Given the description of an element on the screen output the (x, y) to click on. 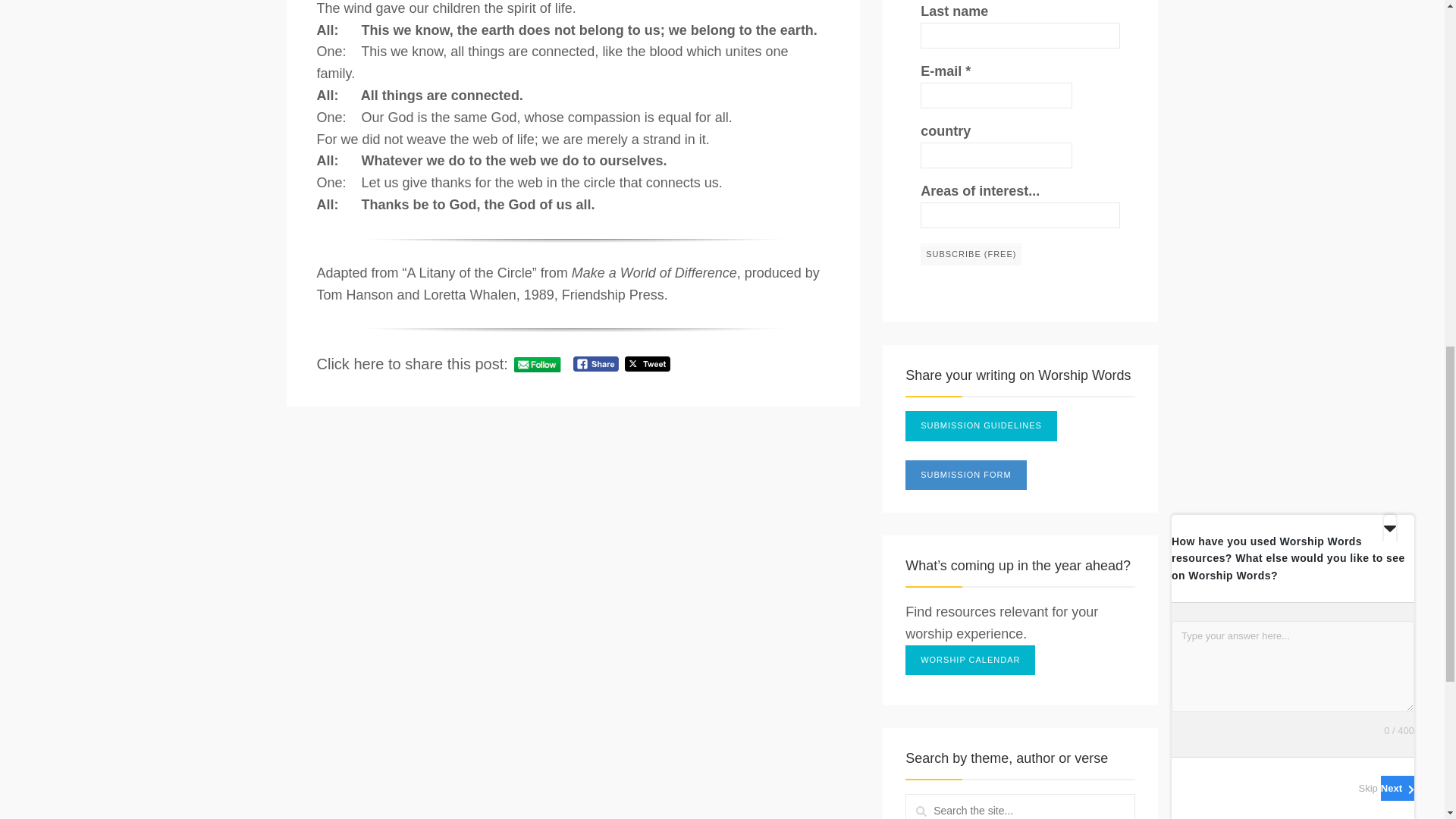
Submission form (965, 475)
E-mail (995, 95)
Tweet (646, 363)
Facebook Share (595, 363)
Worship Calendar (970, 660)
submission guidelines (981, 426)
Areas of interest... (1019, 215)
country (995, 155)
Last name (1019, 35)
